Given the description of an element on the screen output the (x, y) to click on. 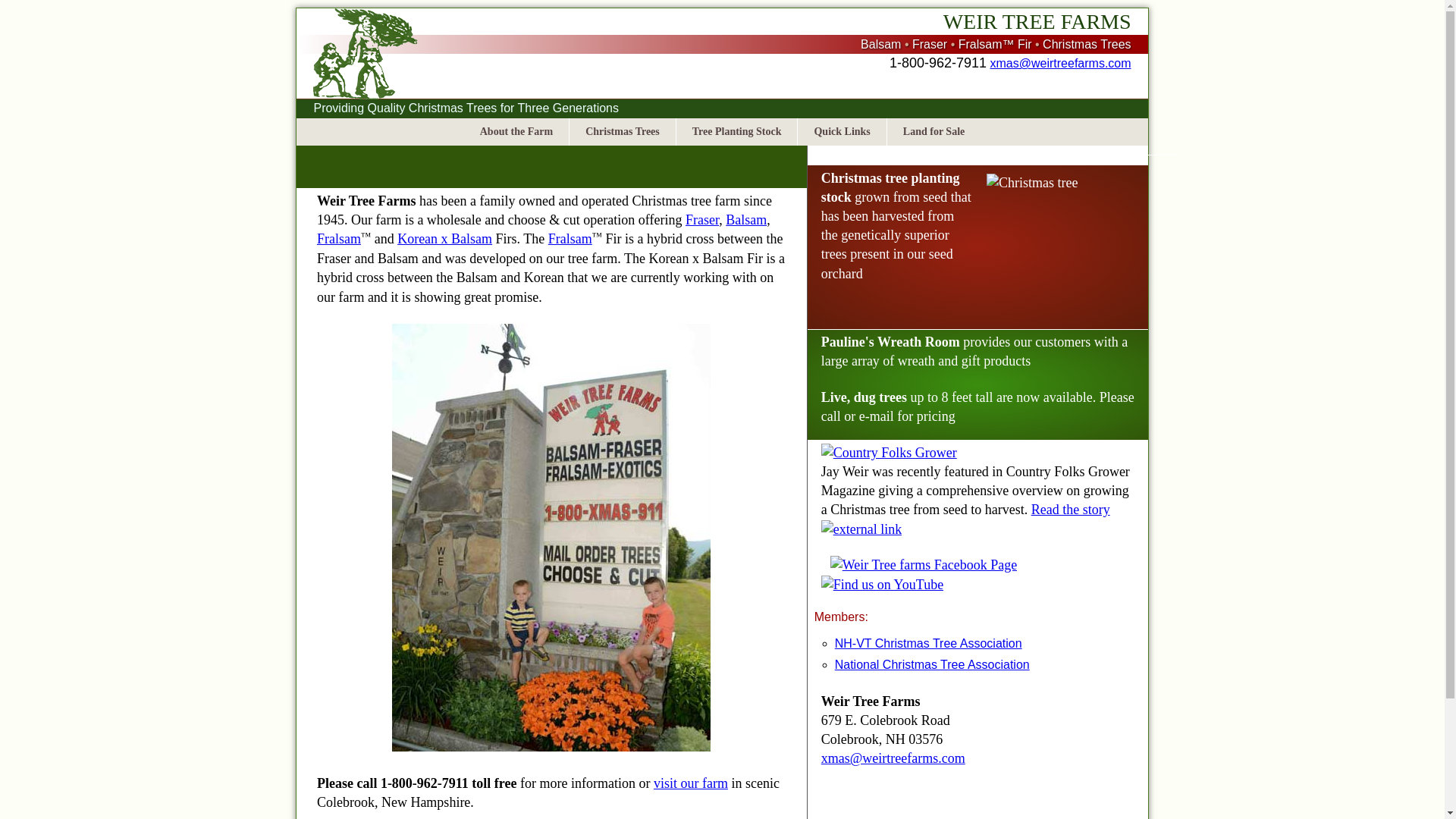
Fralsam (339, 238)
Fraser Firs (702, 219)
visit our farm (690, 783)
Balsam (746, 219)
Korean x Balsam (444, 238)
Tree Planting Stock (736, 131)
Fralsam (570, 238)
Balsam Firs (746, 219)
Fraser (702, 219)
Christmas Tree Planting Stock for sale (736, 131)
